Given the description of an element on the screen output the (x, y) to click on. 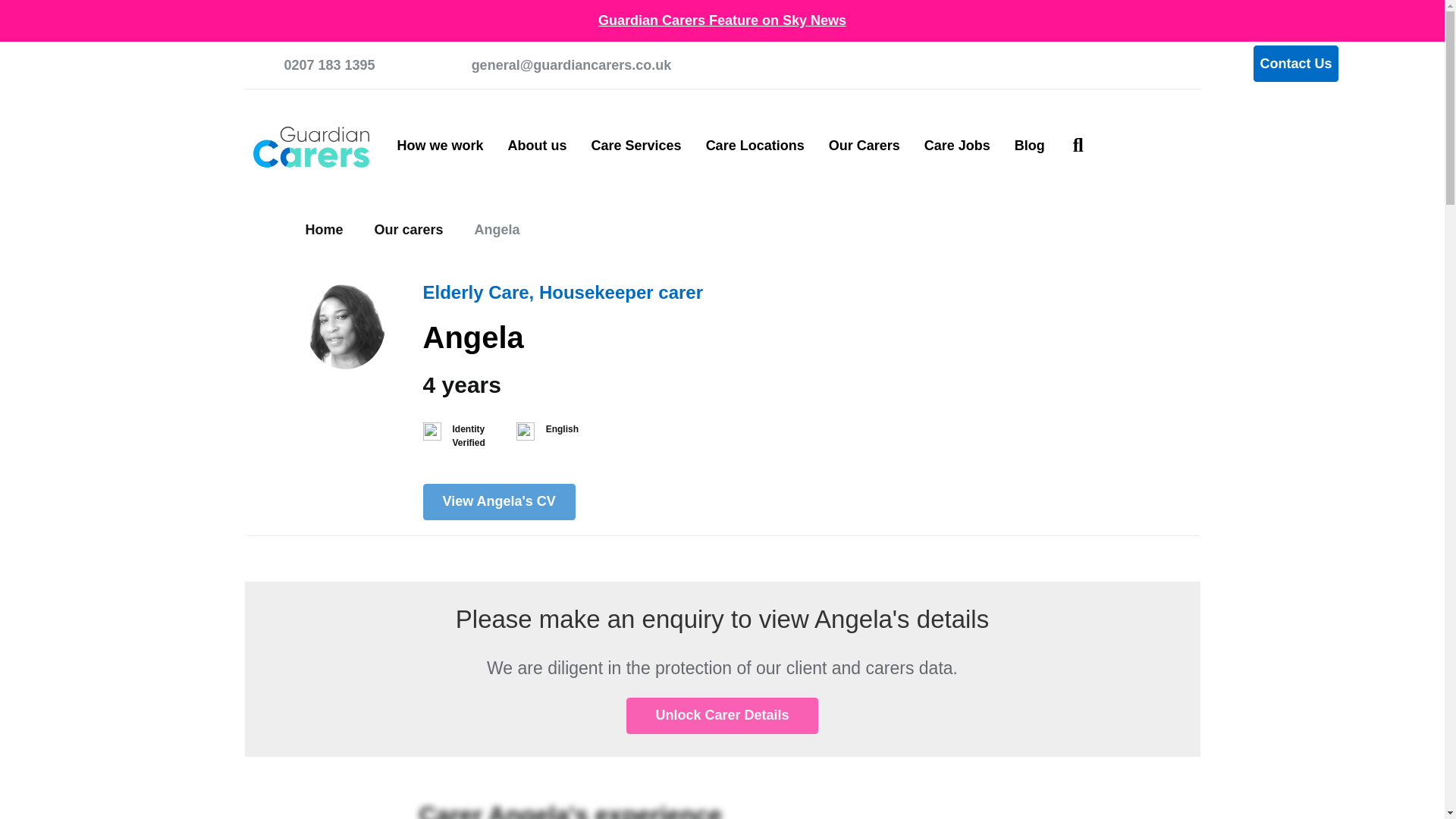
Guardian Carers Feature on Sky News (721, 20)
0207 183 1395 (309, 64)
View Angela's CV (499, 502)
Home (323, 229)
Care Services (636, 145)
Blog (1030, 145)
Care Locations (755, 145)
Care Jobs (957, 145)
About us (537, 145)
Our Carers (864, 145)
